Given the description of an element on the screen output the (x, y) to click on. 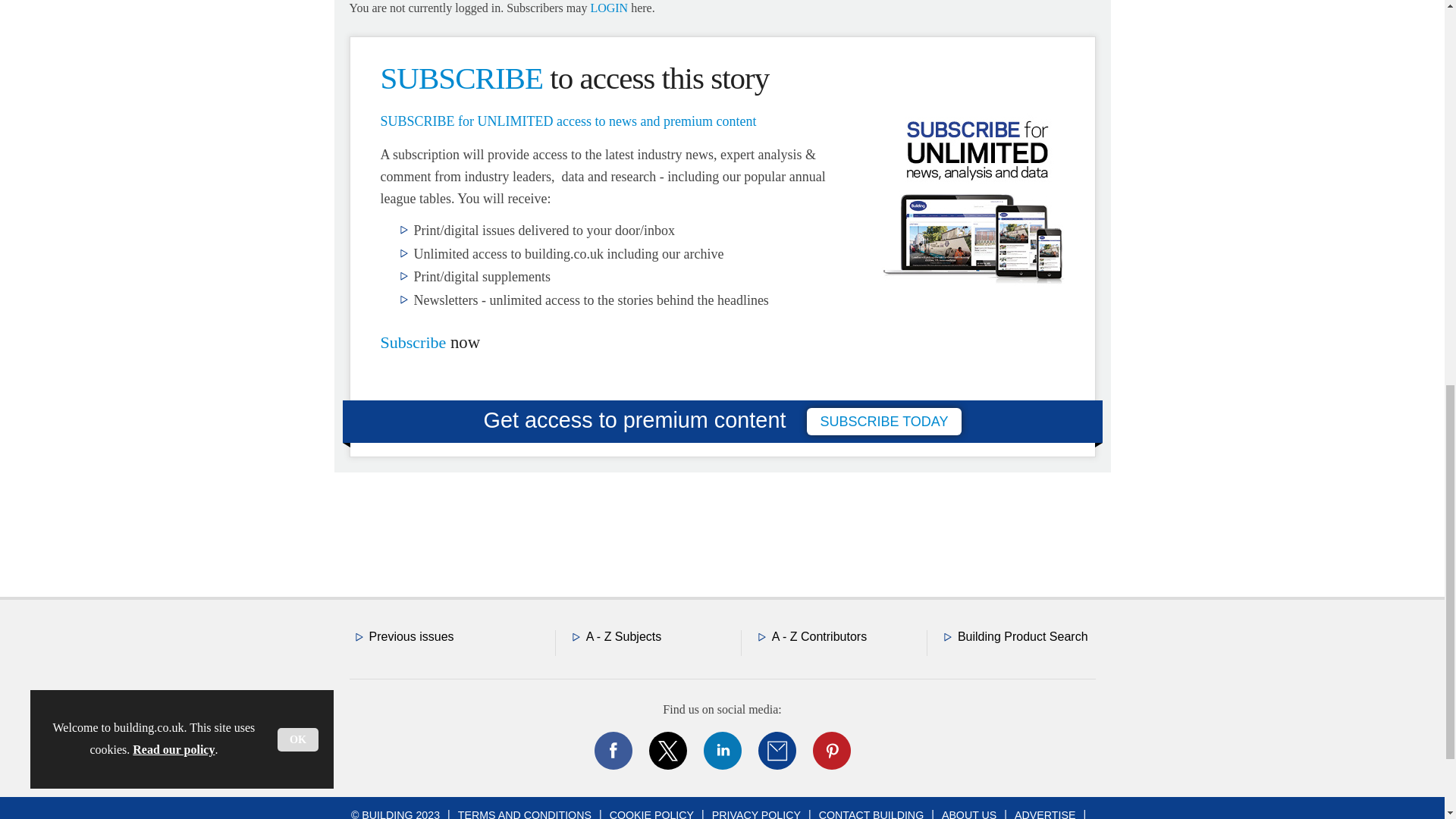
Connect with us on Facebook (611, 750)
Connect with us on Twitter (667, 750)
Connect with us on Linked in (721, 750)
Connect with us on Pinterest (830, 750)
Email us (776, 750)
